Given the description of an element on the screen output the (x, y) to click on. 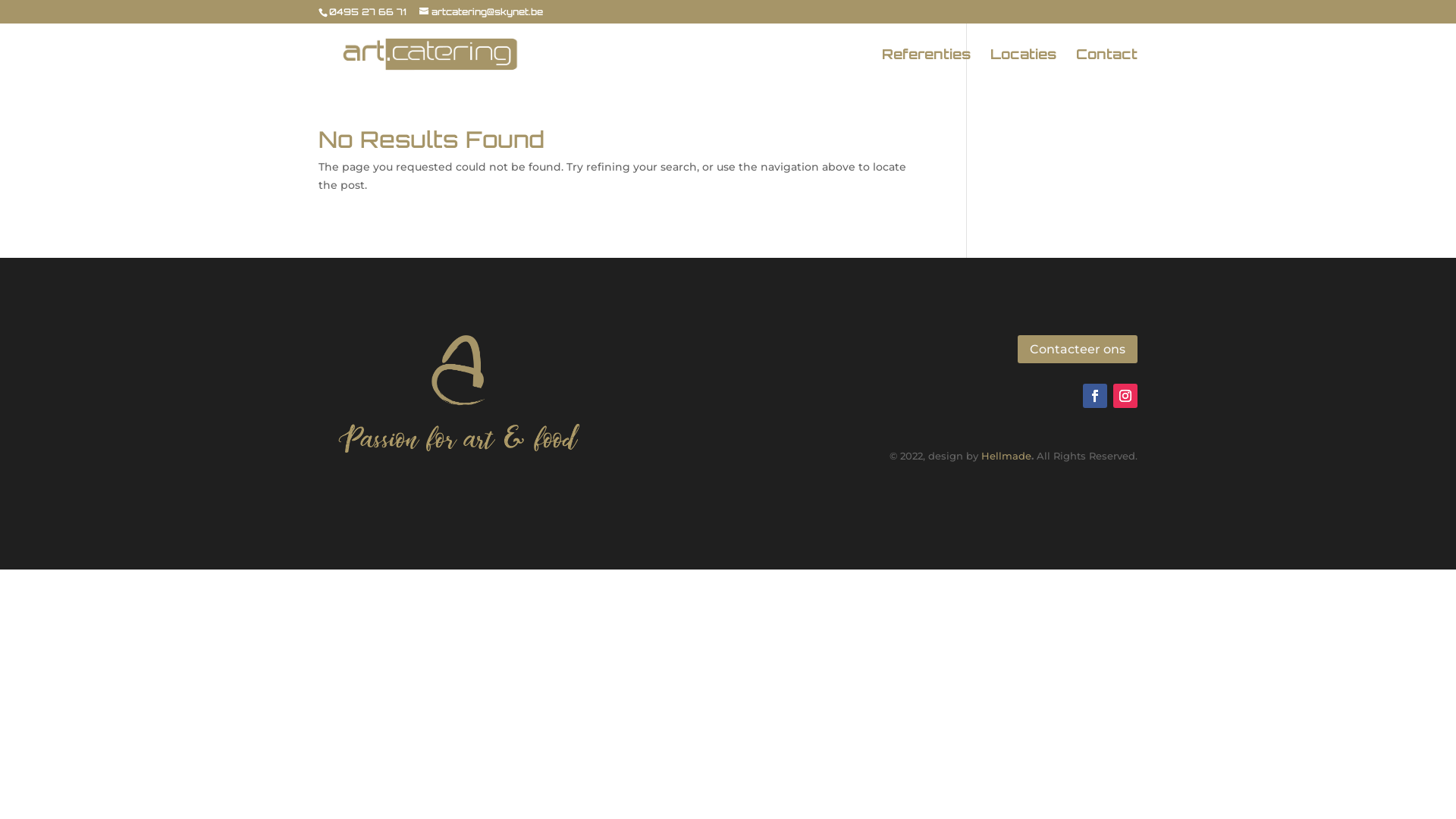
Follow on Instagram Element type: hover (1125, 395)
Follow on Facebook Element type: hover (1094, 395)
Referenties Element type: text (925, 66)
artcatering@skynet.be Element type: text (480, 11)
Hellmade Element type: text (1006, 455)
Contact Element type: text (1106, 66)
artcatering_logo_A_passion Element type: hover (459, 391)
Locaties Element type: text (1023, 66)
Contacteer ons Element type: text (1077, 349)
